Given the description of an element on the screen output the (x, y) to click on. 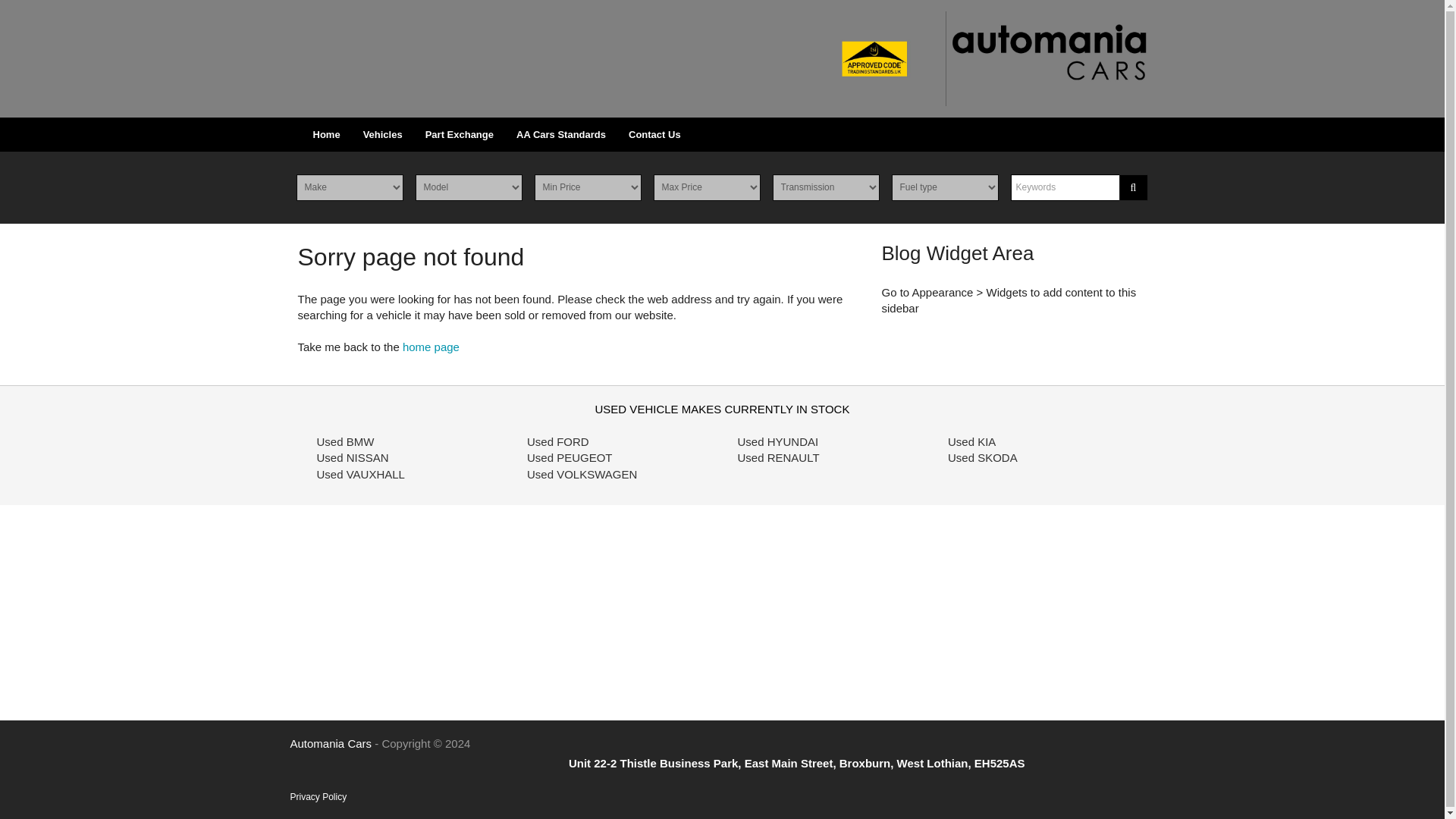
Used HYUNDAI (777, 440)
Contact Us (655, 134)
Used VOLKSWAGEN (582, 472)
AA Cars Standards (561, 134)
AA Cars Standards (561, 134)
Used SKODA (982, 457)
Used BMW (345, 440)
Used FORD (558, 440)
Vehicles (382, 134)
Used RENAULT (777, 457)
Used KIA (971, 440)
Vehicles (382, 134)
Part Exchange (459, 134)
home page (431, 346)
Automania Cars (981, 58)
